Given the description of an element on the screen output the (x, y) to click on. 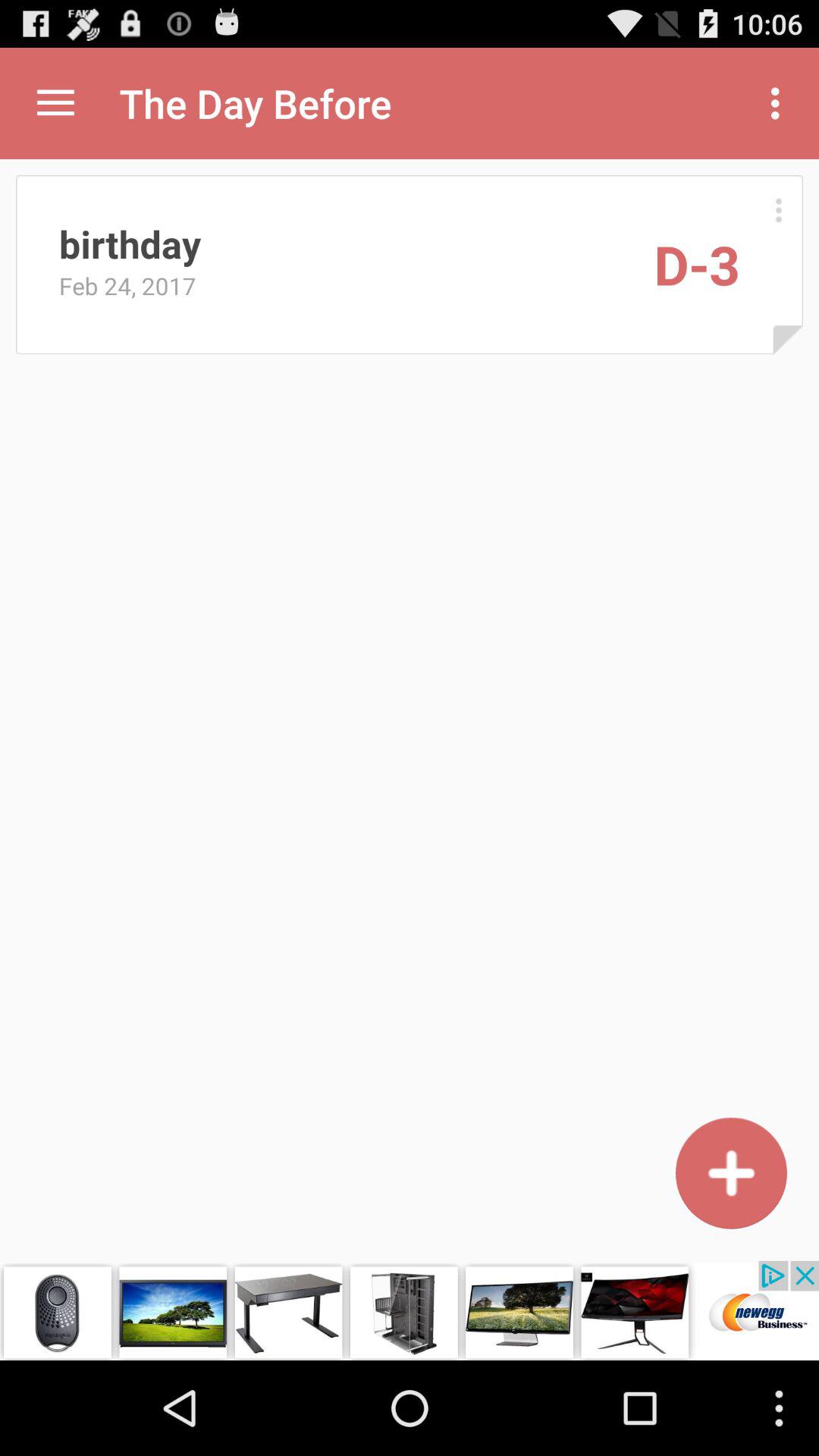
go to search box (731, 1173)
